Given the description of an element on the screen output the (x, y) to click on. 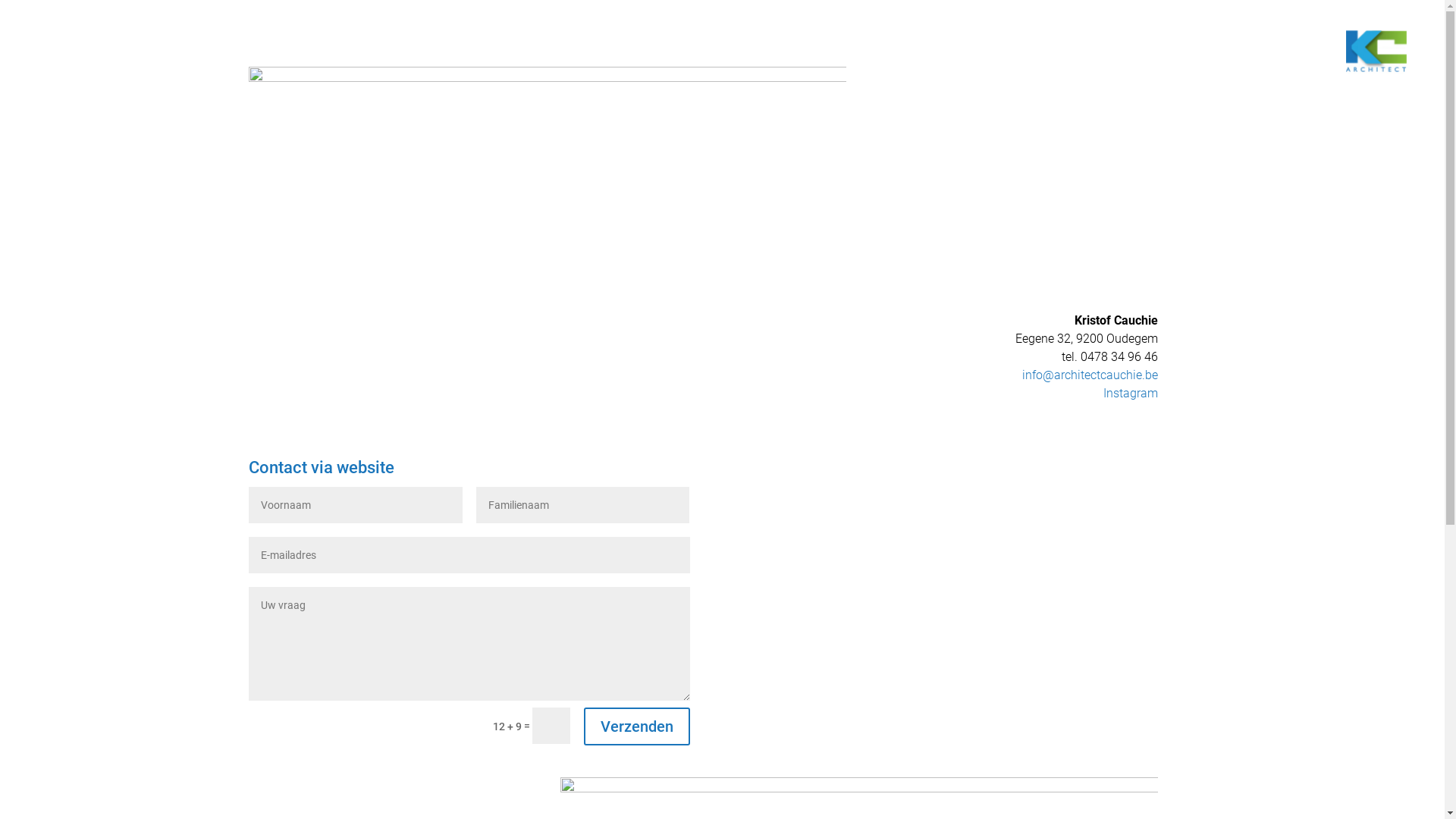
Instagram Element type: text (1130, 392)
info@architectcauchie.be Element type: text (1089, 374)
Verzenden Element type: text (636, 726)
